Given the description of an element on the screen output the (x, y) to click on. 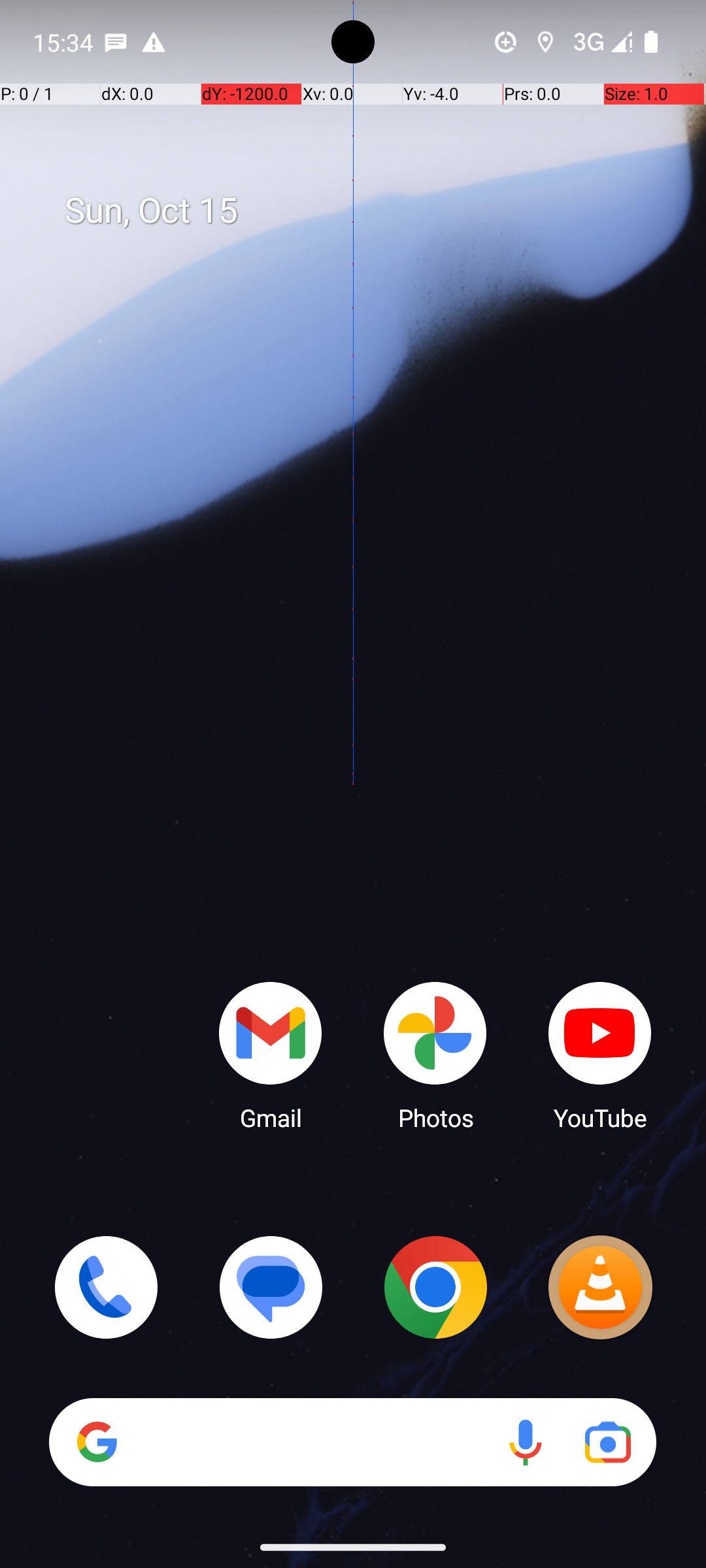
Home Element type: android.view.View (353, 804)
Phone Element type: android.widget.TextView (105, 1287)
Messages Element type: android.widget.TextView (270, 1287)
Chrome Element type: android.widget.TextView (435, 1287)
VLC Element type: android.widget.TextView (599, 1287)
Sun, Oct 15 Element type: android.widget.TextView (366, 210)
Gmail Element type: android.widget.TextView (270, 1054)
Photos Element type: android.widget.TextView (435, 1054)
YouTube Element type: android.widget.TextView (599, 1054)
Data Saver is on Element type: android.widget.ImageView (505, 41)
